Given the description of an element on the screen output the (x, y) to click on. 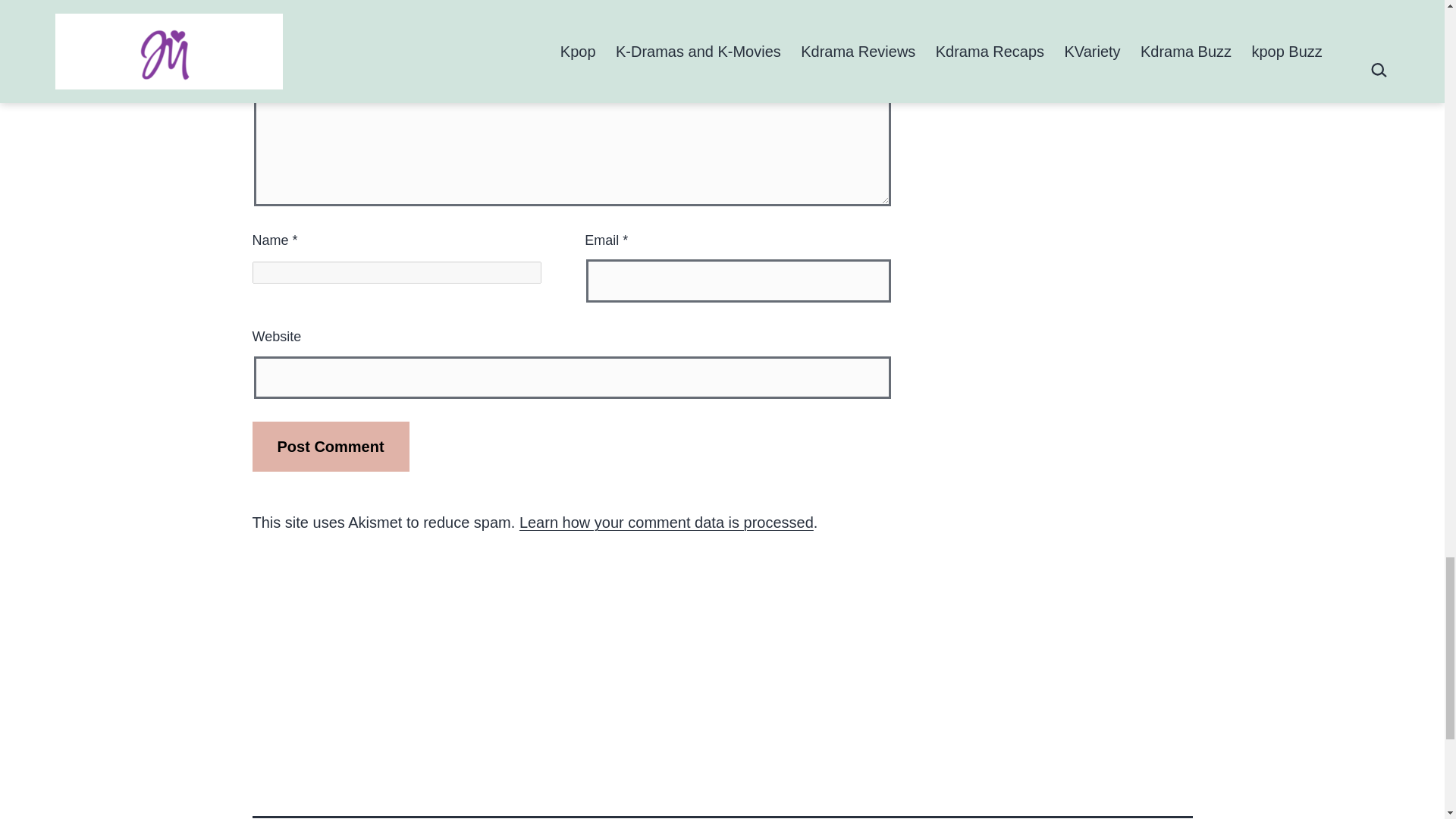
Post Comment (330, 446)
Post Comment (330, 446)
Learn how your comment data is processed (666, 522)
